Given the description of an element on the screen output the (x, y) to click on. 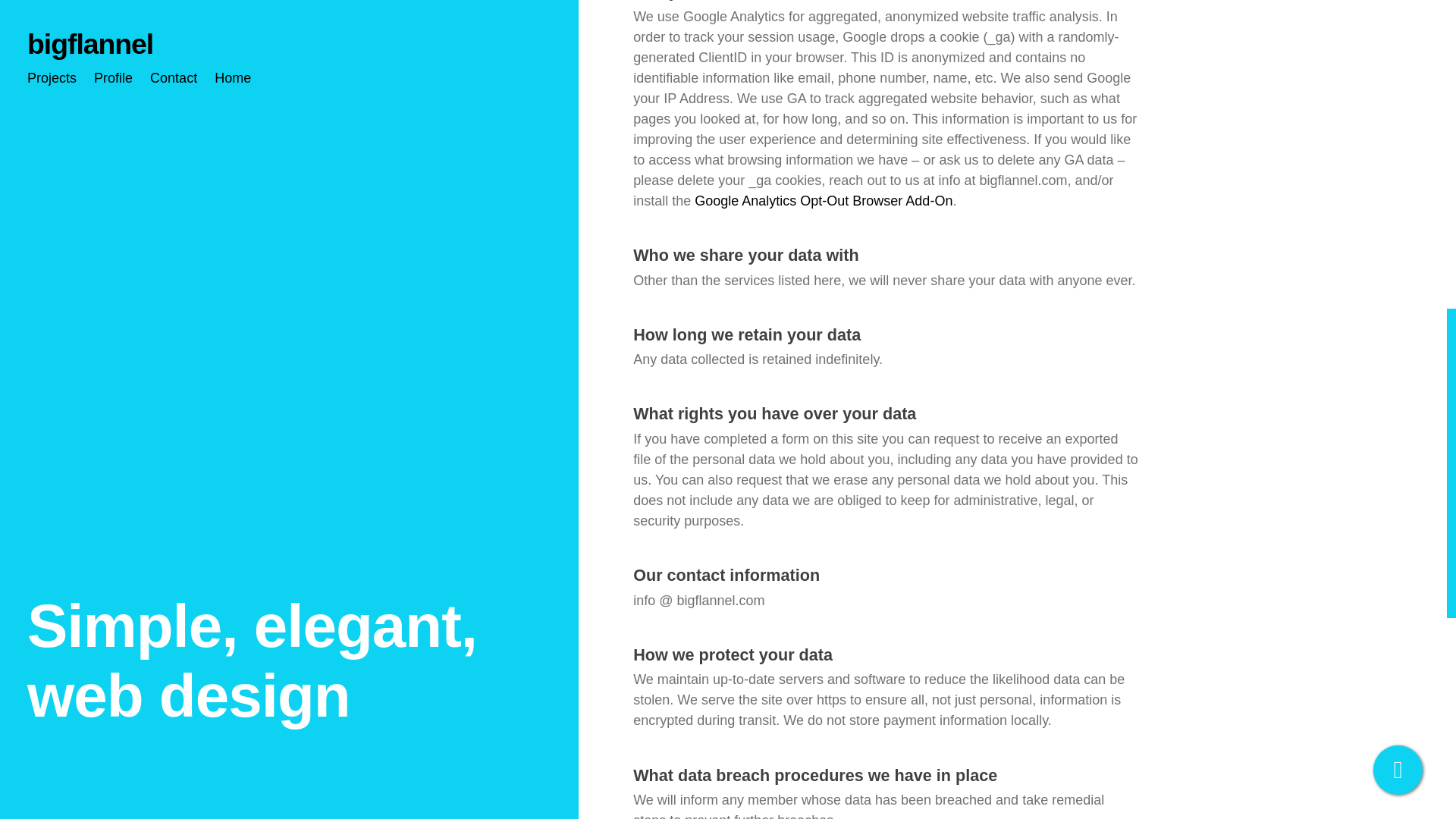
Google Analytics Opt-Out Browser Add-On (823, 200)
